Given the description of an element on the screen output the (x, y) to click on. 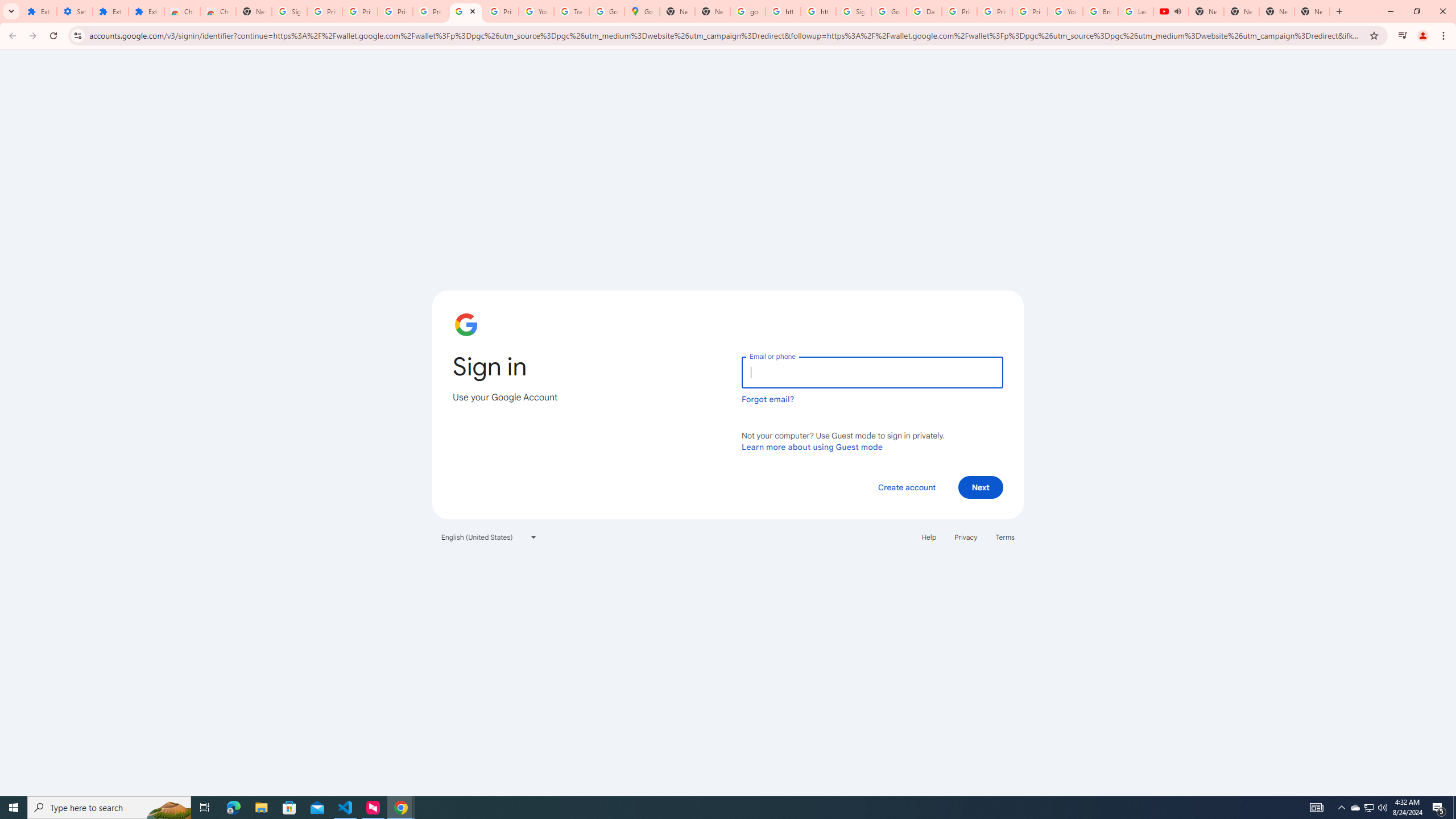
Sign in - Google Accounts (288, 11)
YouTube (1064, 11)
Chrome Web Store (181, 11)
Extensions (110, 11)
Extensions (145, 11)
Create account (905, 486)
Email or phone (871, 372)
